Given the description of an element on the screen output the (x, y) to click on. 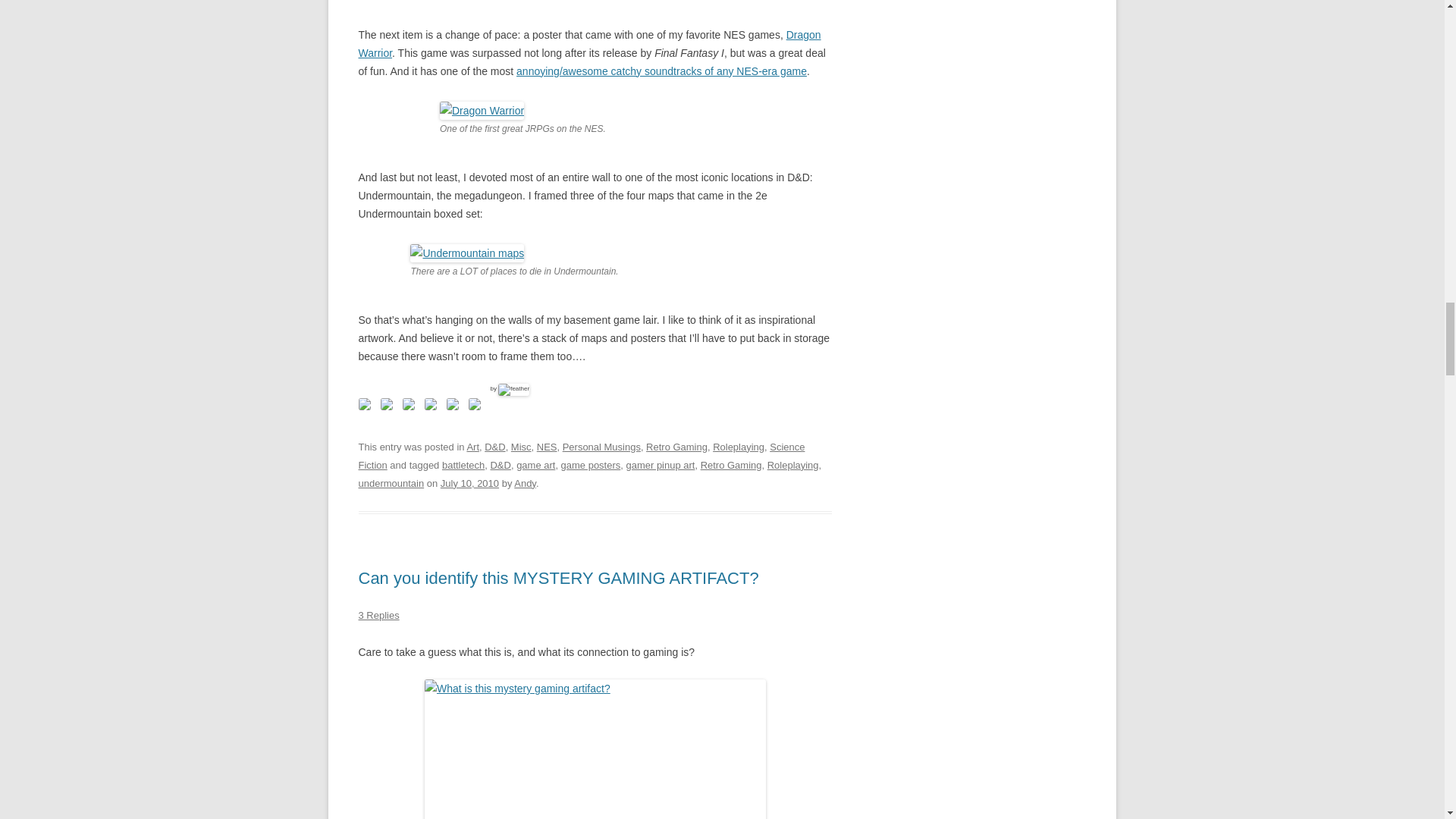
Share on Reddit (407, 404)
NES (547, 446)
Share on Facebook (363, 404)
Share on Twitter (389, 407)
Personal Musings (601, 446)
Art (472, 446)
Roleplaying (738, 446)
Dragon Warrior (589, 43)
Share on Twitter (386, 404)
Retro Gaming (676, 446)
dragonwarrior (481, 110)
battletech (463, 464)
Misc (521, 446)
Share on Reddit (410, 407)
Share on Facebook (366, 407)
